Given the description of an element on the screen output the (x, y) to click on. 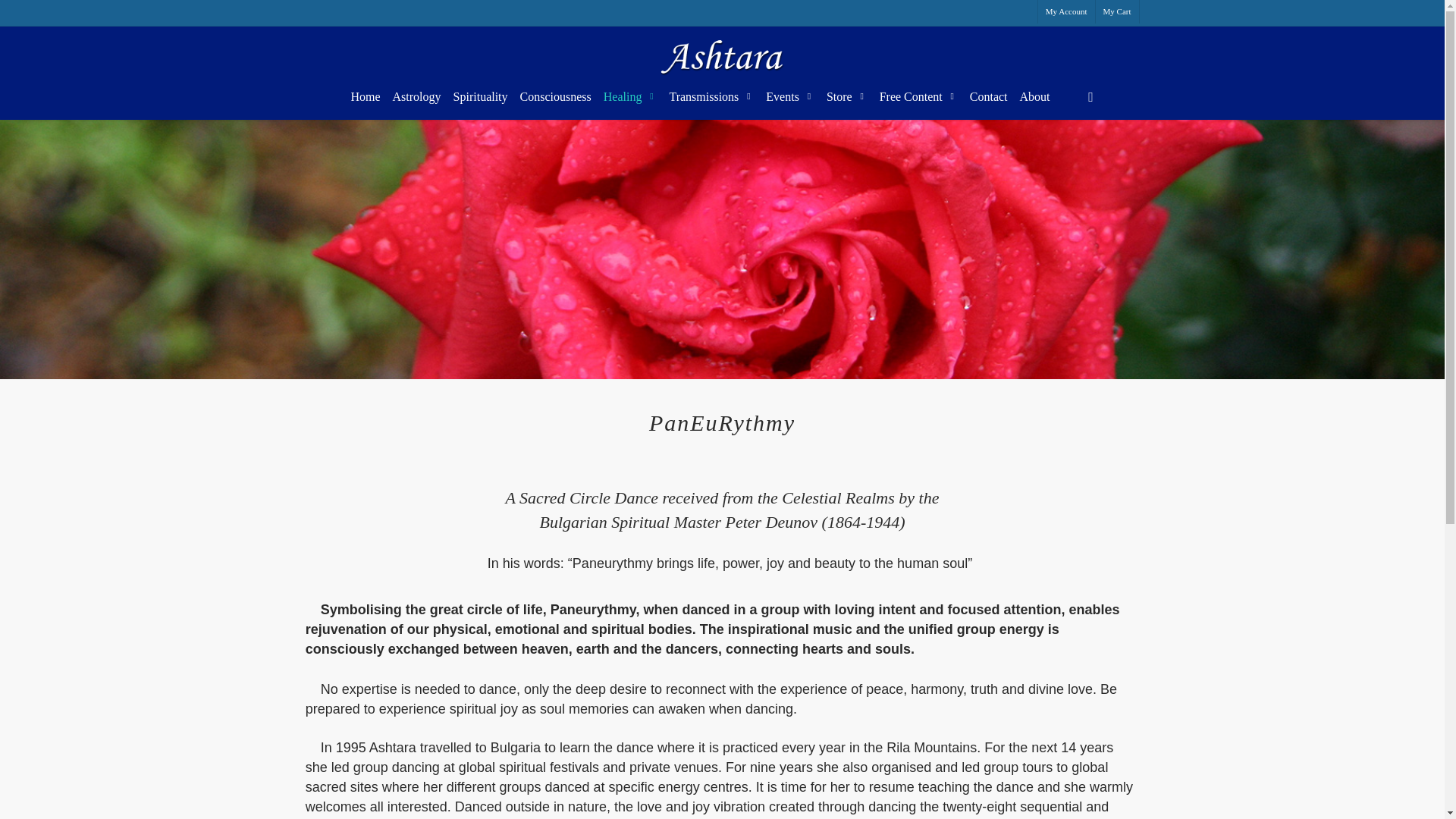
About (1035, 96)
Healing (629, 96)
Free Content (918, 96)
Events (790, 96)
search (1090, 96)
Home (364, 96)
Consciousness (554, 96)
Spirituality (479, 96)
Transmissions (711, 96)
Contact (988, 96)
